Given the description of an element on the screen output the (x, y) to click on. 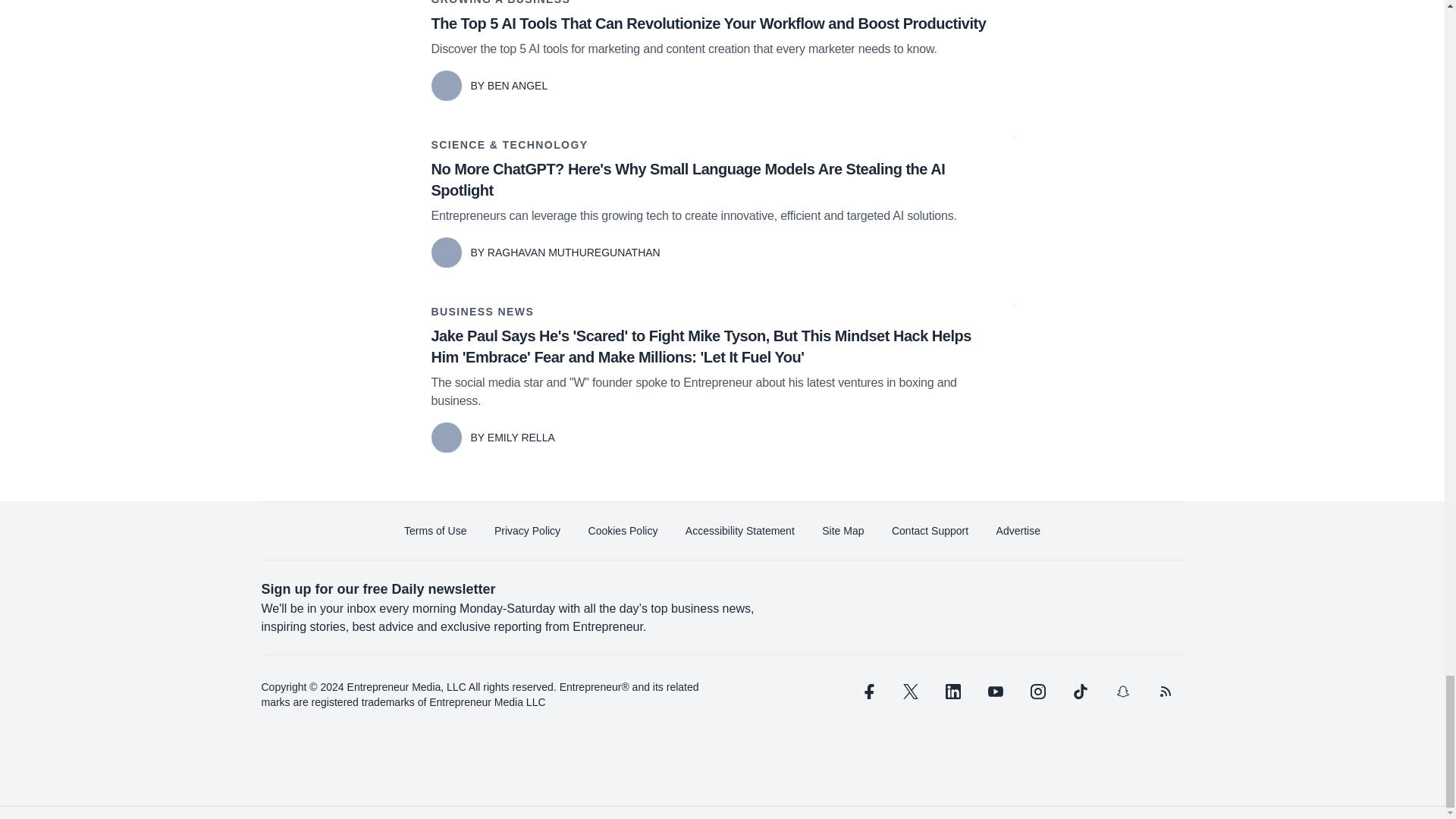
youtube (994, 691)
instagram (1037, 691)
facebook (866, 691)
twitter (909, 691)
tiktok (1079, 691)
snapchat (1121, 691)
linkedin (952, 691)
